Given the description of an element on the screen output the (x, y) to click on. 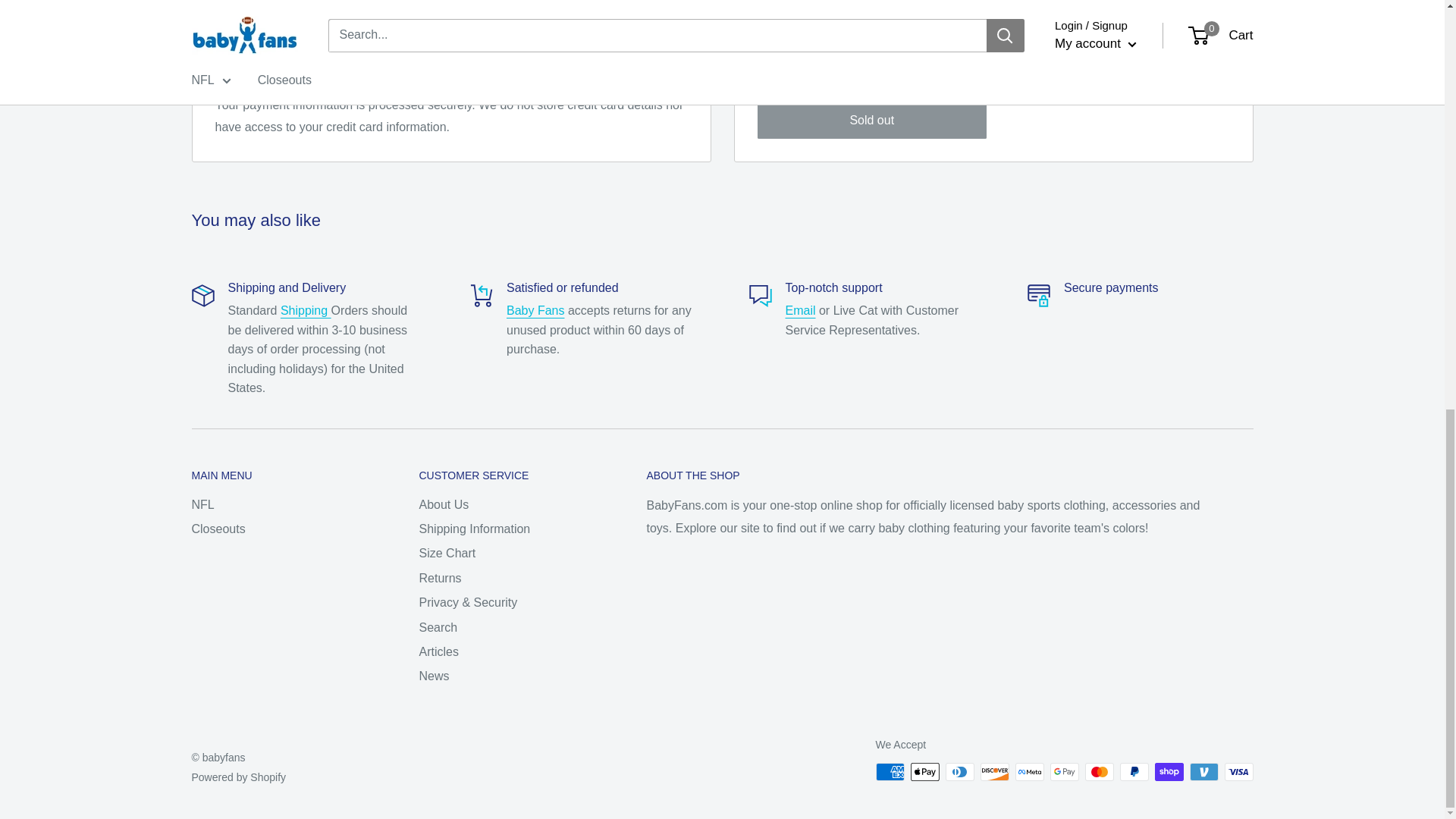
Returns (535, 309)
Shipping Policy (306, 309)
Contact Us (800, 309)
